Given the description of an element on the screen output the (x, y) to click on. 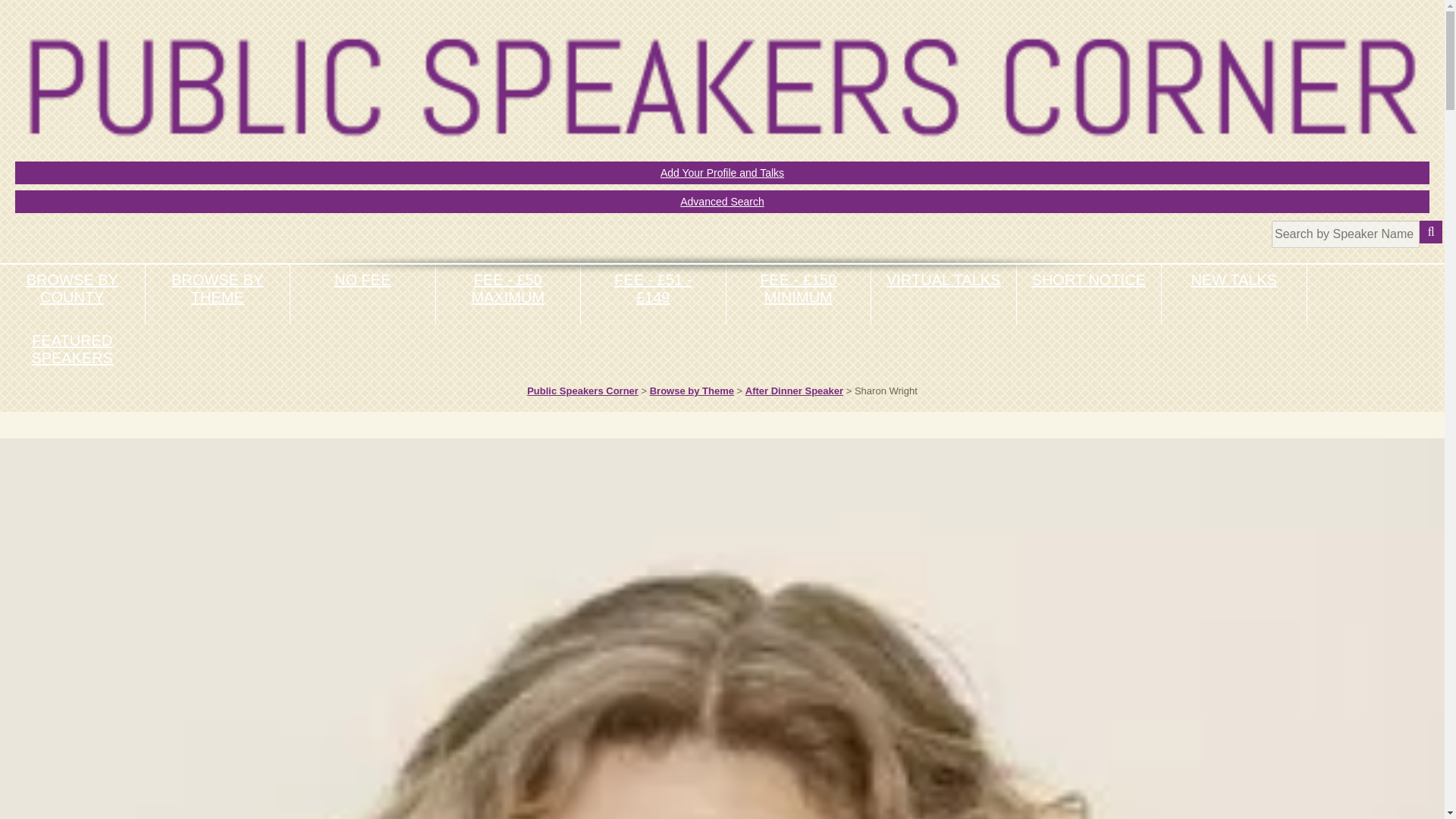
Add Your Profile and Talks (721, 172)
Go to the Browse by Theme category archives. (691, 390)
Go to Public Speakers Corner. (583, 390)
BROWSE BY COUNTY (72, 301)
Add Your Profile and Talks (721, 172)
Advanced search for talks and speakers (721, 201)
Advanced Search (721, 201)
Go to the After Dinner Speaker category archives. (794, 390)
